Given the description of an element on the screen output the (x, y) to click on. 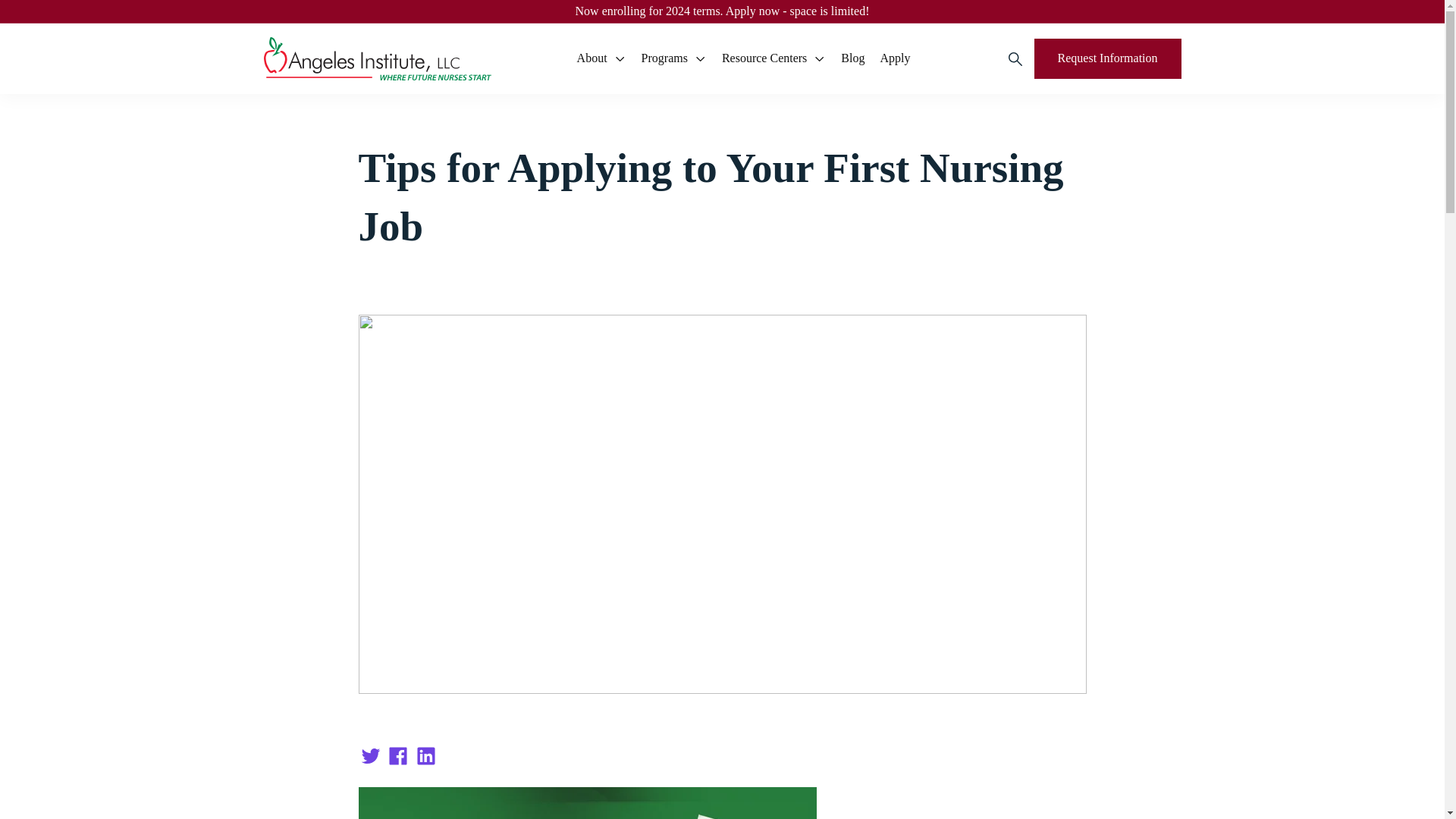
Resource Centers (773, 58)
Programs (673, 58)
Apply (894, 58)
About (601, 58)
Request Information (1106, 57)
ag (377, 57)
